Given the description of an element on the screen output the (x, y) to click on. 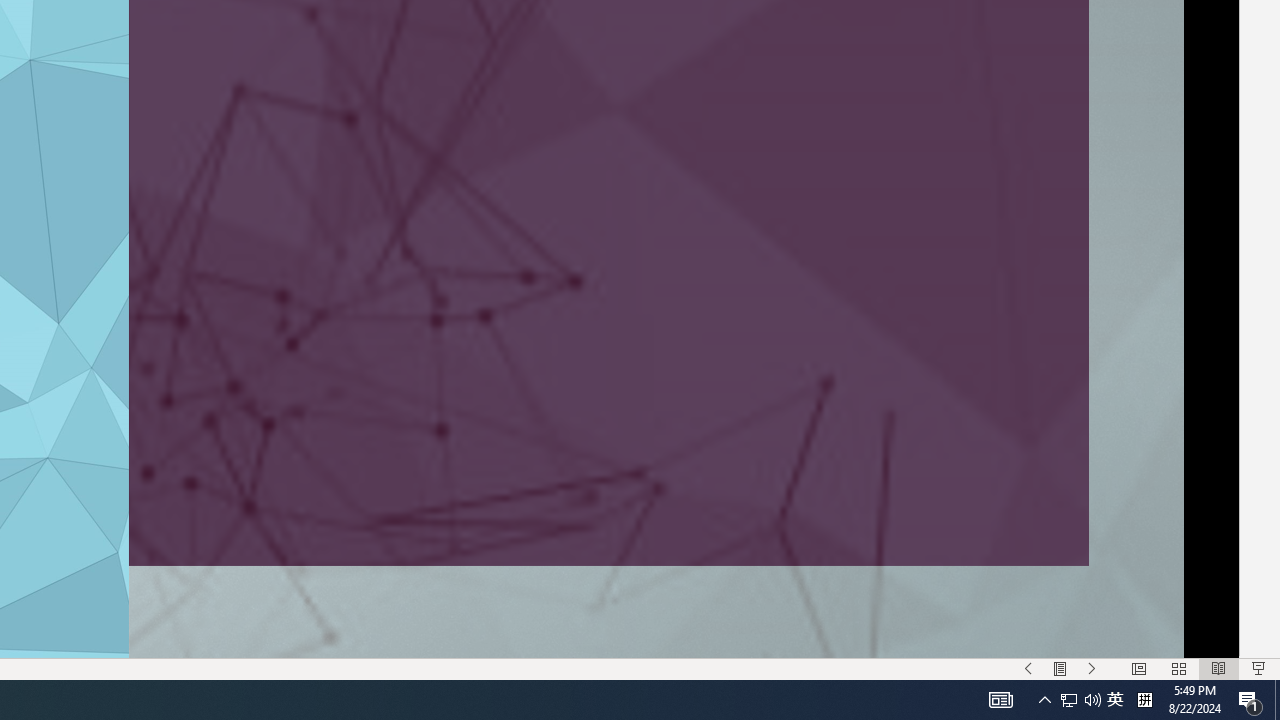
Slide Show Previous On (1028, 668)
Menu On (1060, 668)
Reading View (1219, 668)
Slide Show Next On (1092, 668)
Slide Sorter (1178, 668)
Slide Show (1258, 668)
Normal (1138, 668)
